Given the description of an element on the screen output the (x, y) to click on. 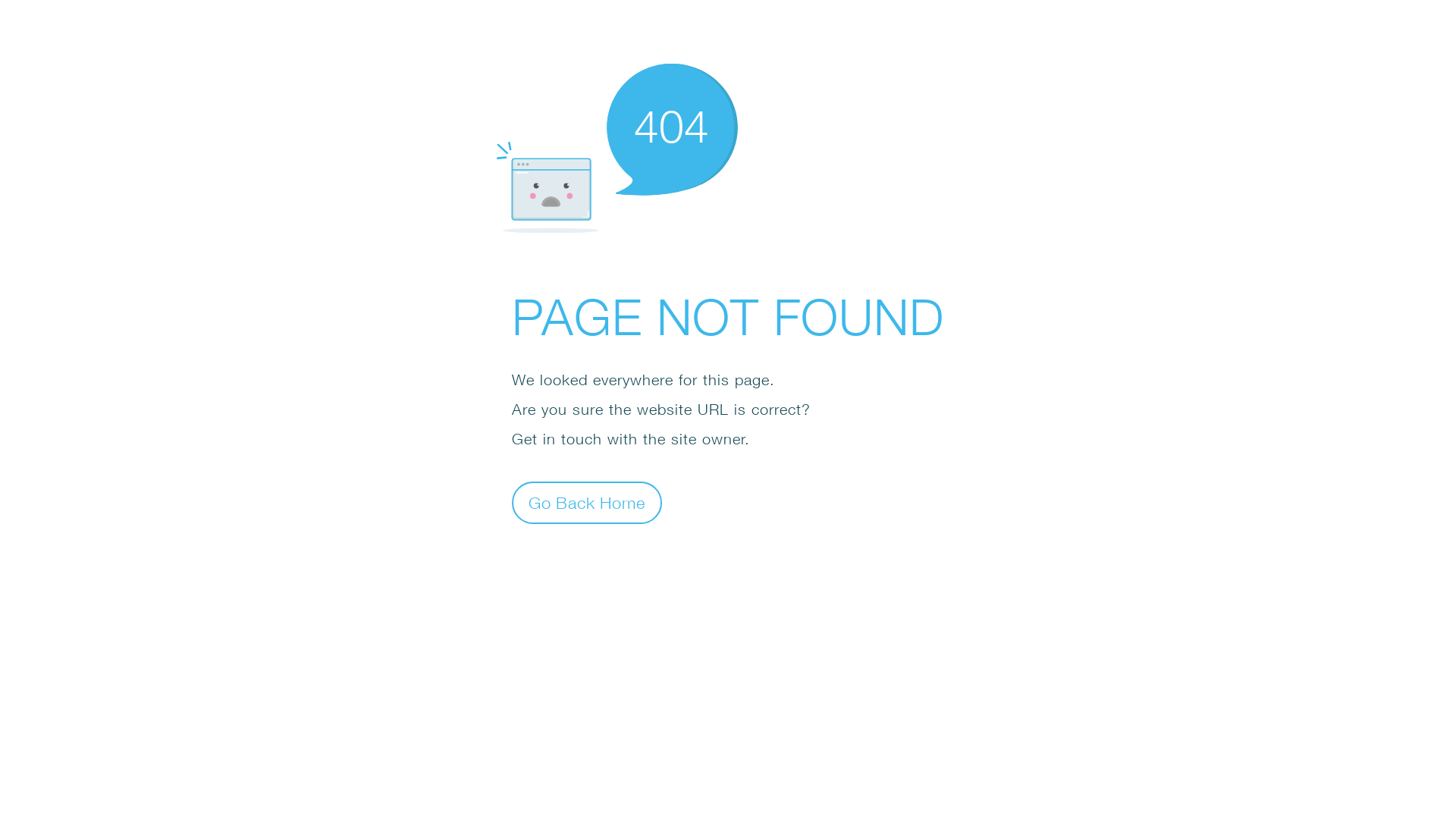
Go Back Home Element type: text (586, 502)
